Given the description of an element on the screen output the (x, y) to click on. 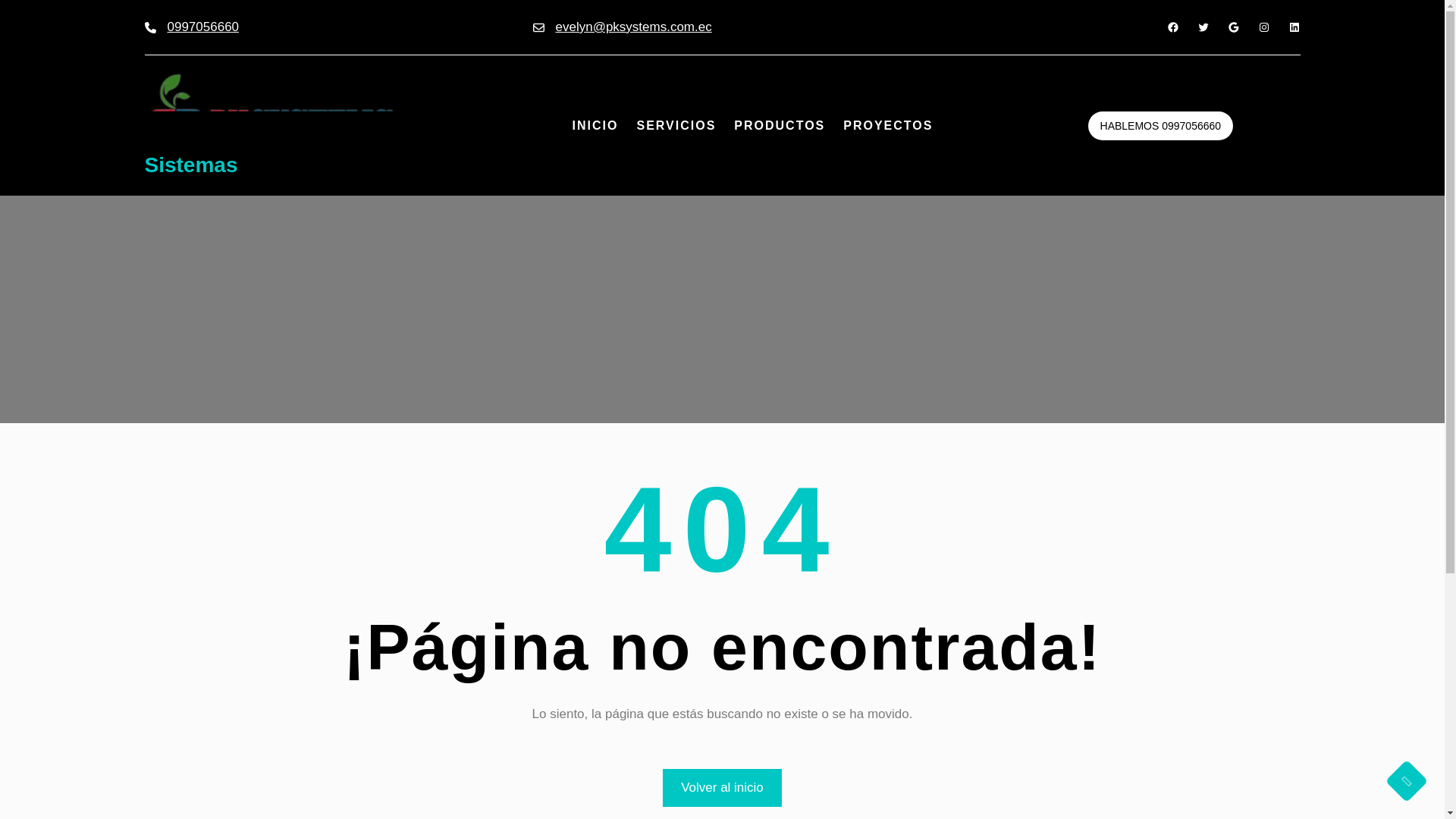
SERVICIOS (676, 126)
LinkedIn (1293, 27)
Instagram (1263, 27)
Volver al inicio (722, 788)
Google (1233, 27)
Facebook (1171, 27)
INICIO (595, 126)
Twitter (1202, 27)
0997056660 (202, 26)
Sistemas (190, 164)
